Given the description of an element on the screen output the (x, y) to click on. 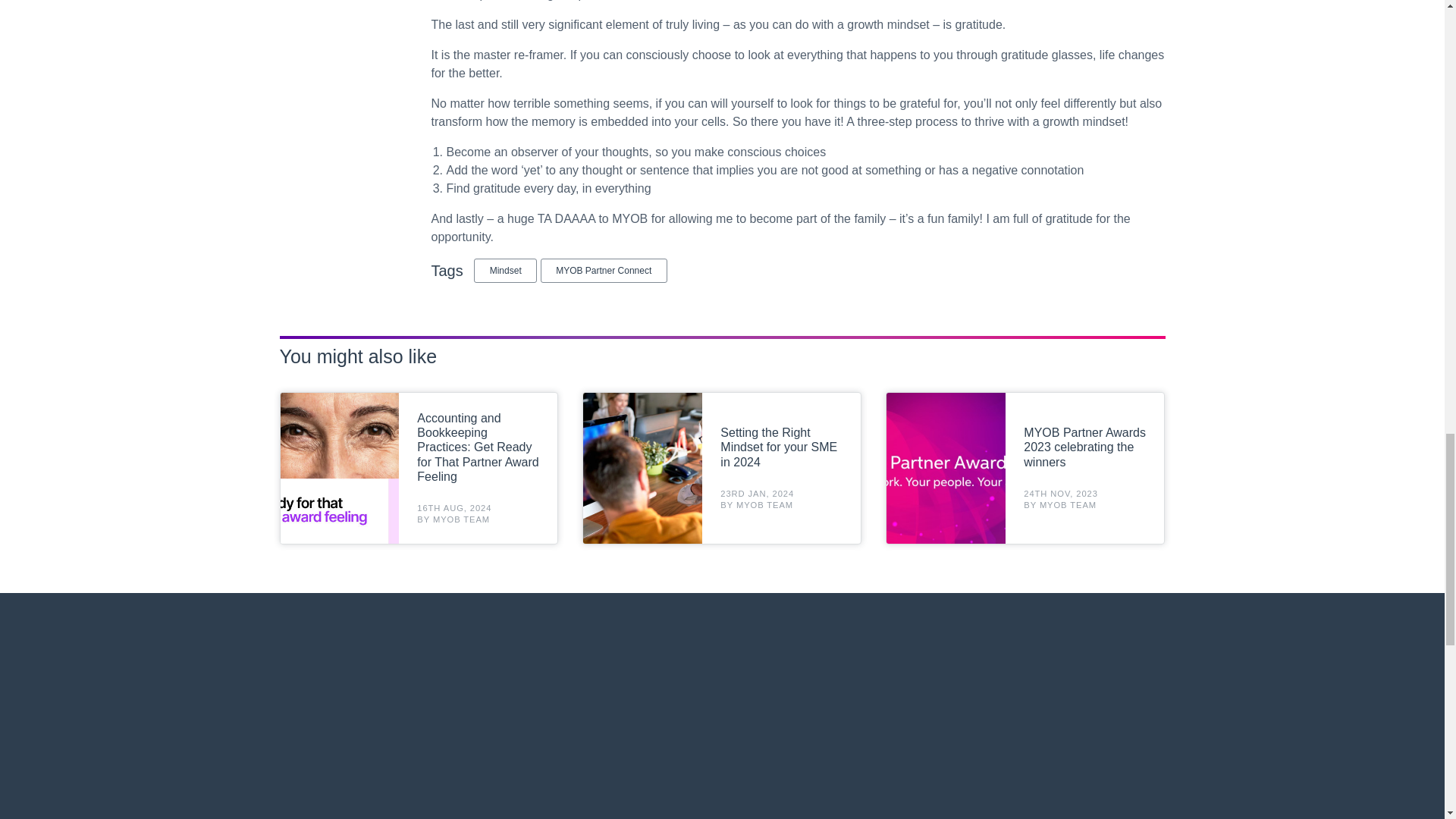
Form 0 (721, 719)
Mindset (505, 270)
MYOB Partner Connect (603, 270)
